Given the description of an element on the screen output the (x, y) to click on. 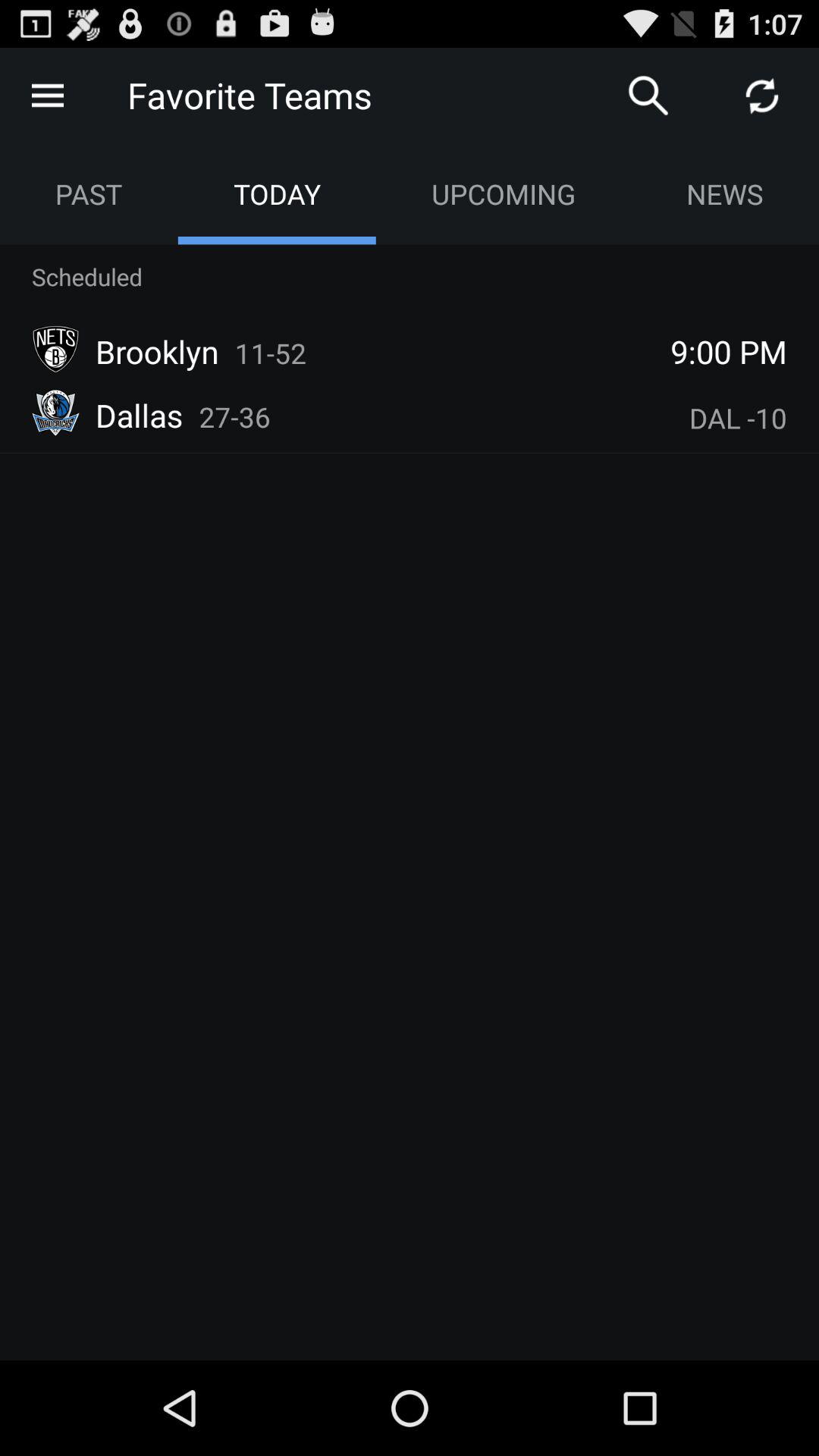
launch app next to the 11-52 (728, 351)
